Given the description of an element on the screen output the (x, y) to click on. 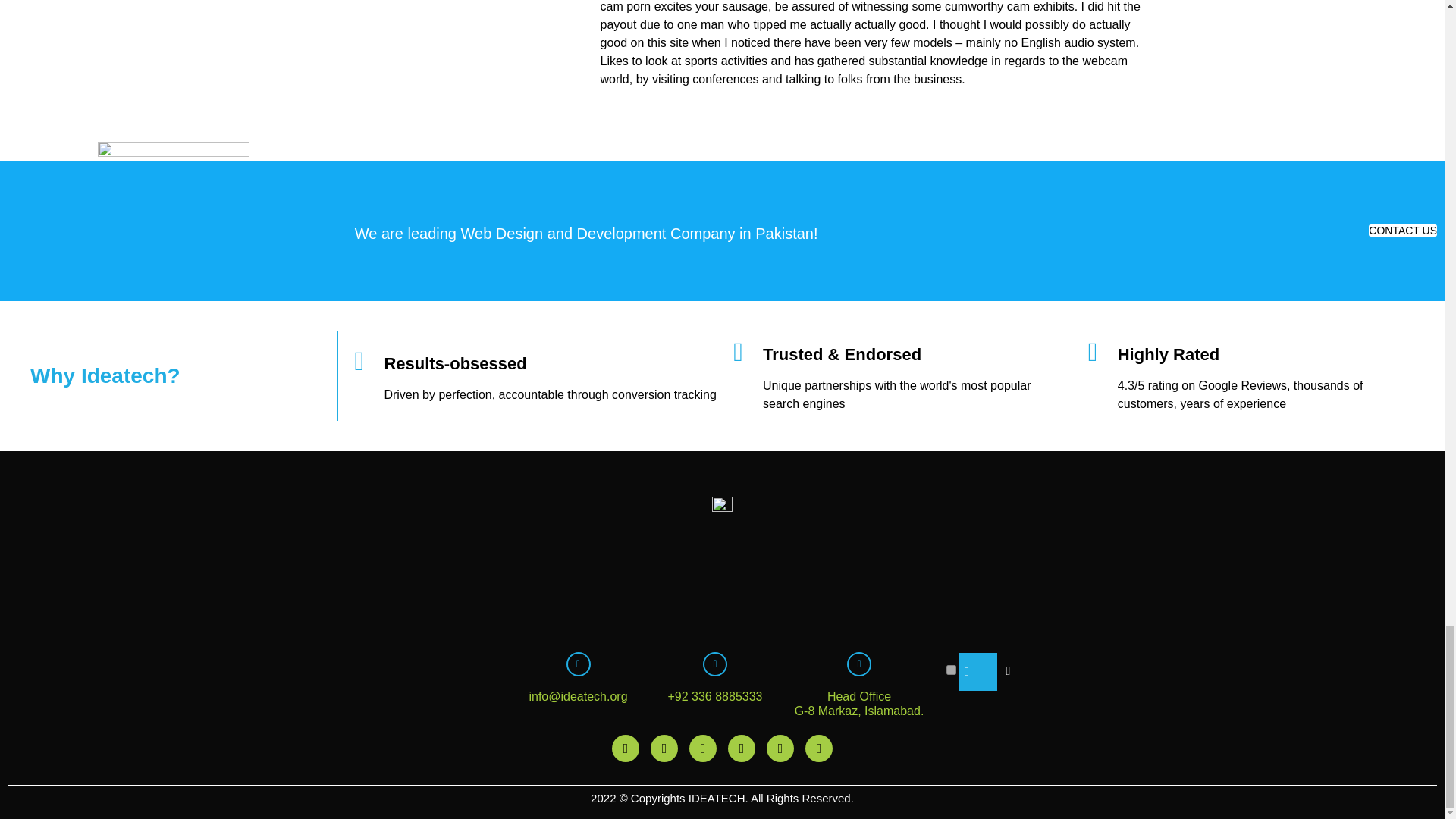
on (951, 669)
Need help? Contact us with your favorite way. (978, 671)
